Given the description of an element on the screen output the (x, y) to click on. 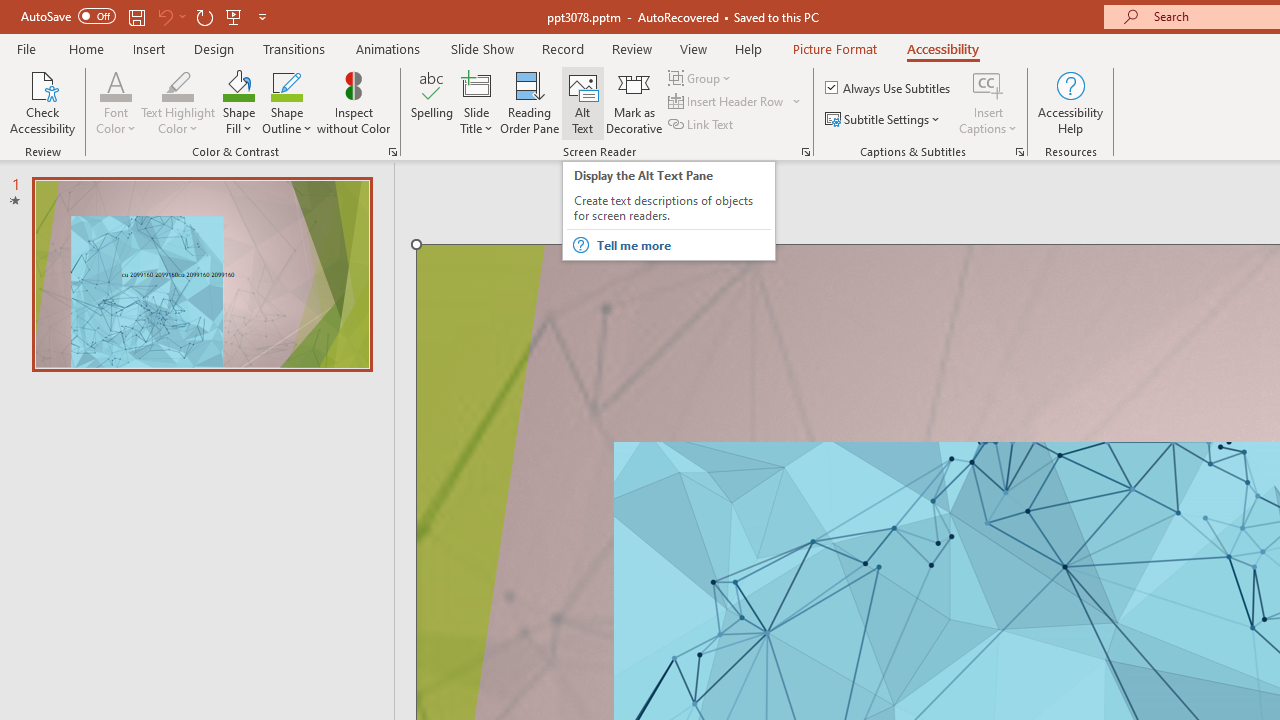
Screen Reader (805, 151)
